Given the description of an element on the screen output the (x, y) to click on. 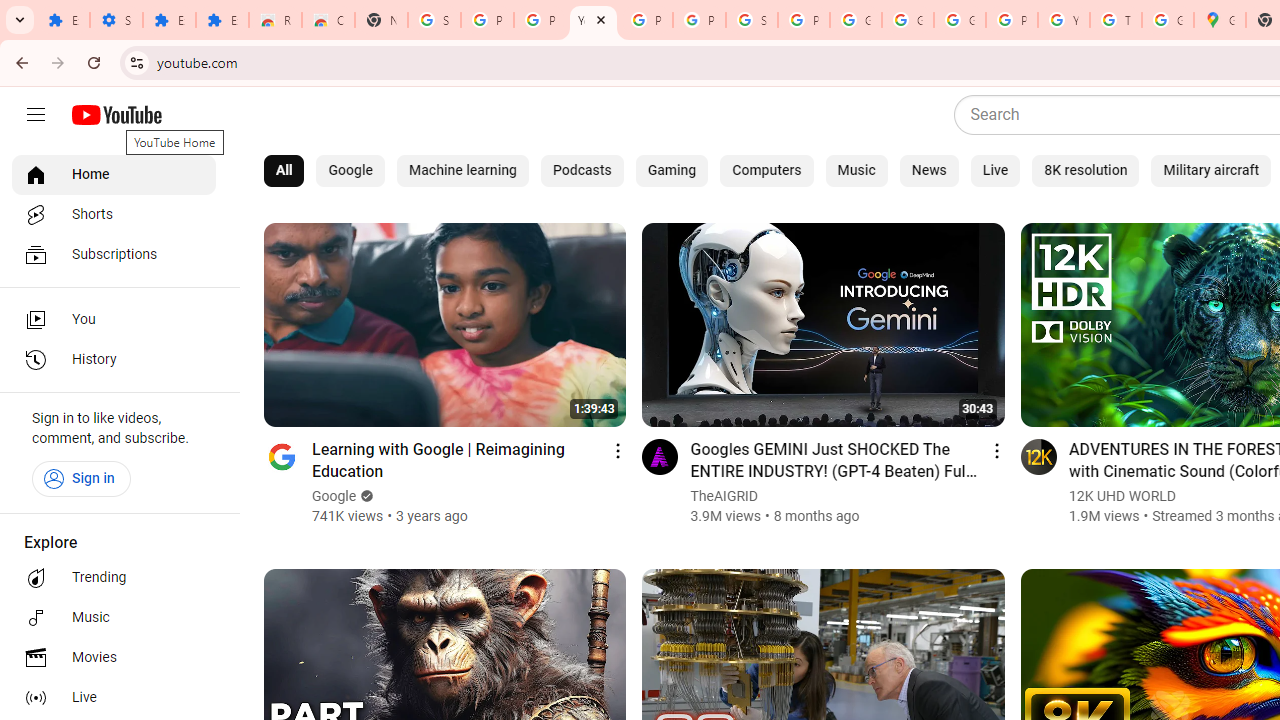
8K resolution (1085, 170)
Reviews: Helix Fruit Jump Arcade Game (275, 20)
Movies (113, 657)
Action menu (996, 449)
Extensions (63, 20)
Live (113, 697)
12K UHD WORLD (1122, 496)
Subscriptions (113, 254)
Go to channel (1038, 456)
Podcasts (582, 170)
